Given the description of an element on the screen output the (x, y) to click on. 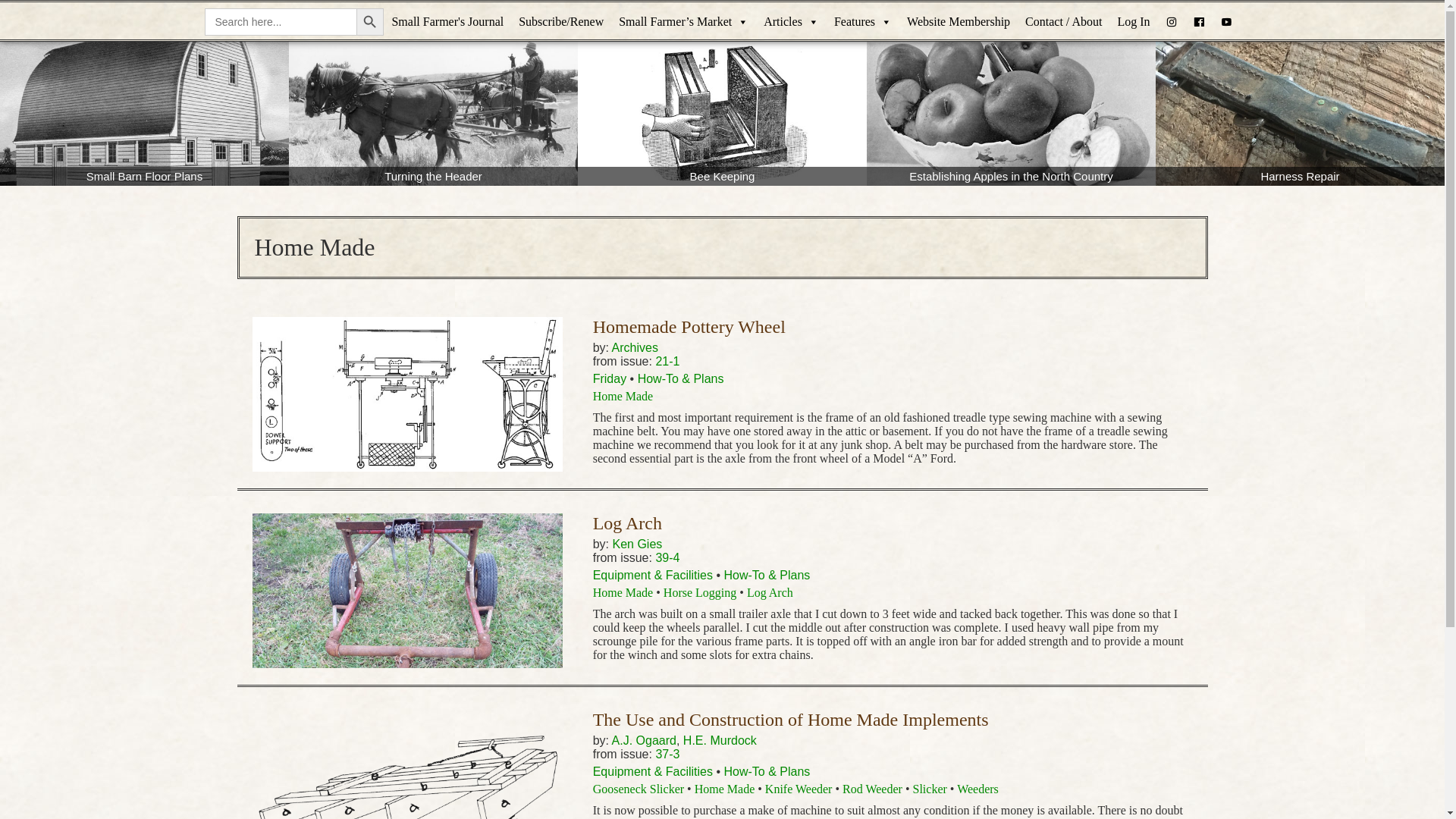
Features (863, 21)
Search Button (370, 22)
Small Farmer's Journal (447, 21)
Articles (791, 21)
Log In (1133, 21)
Small Barn Floor Plans (144, 112)
Website Membership (958, 21)
